Given the description of an element on the screen output the (x, y) to click on. 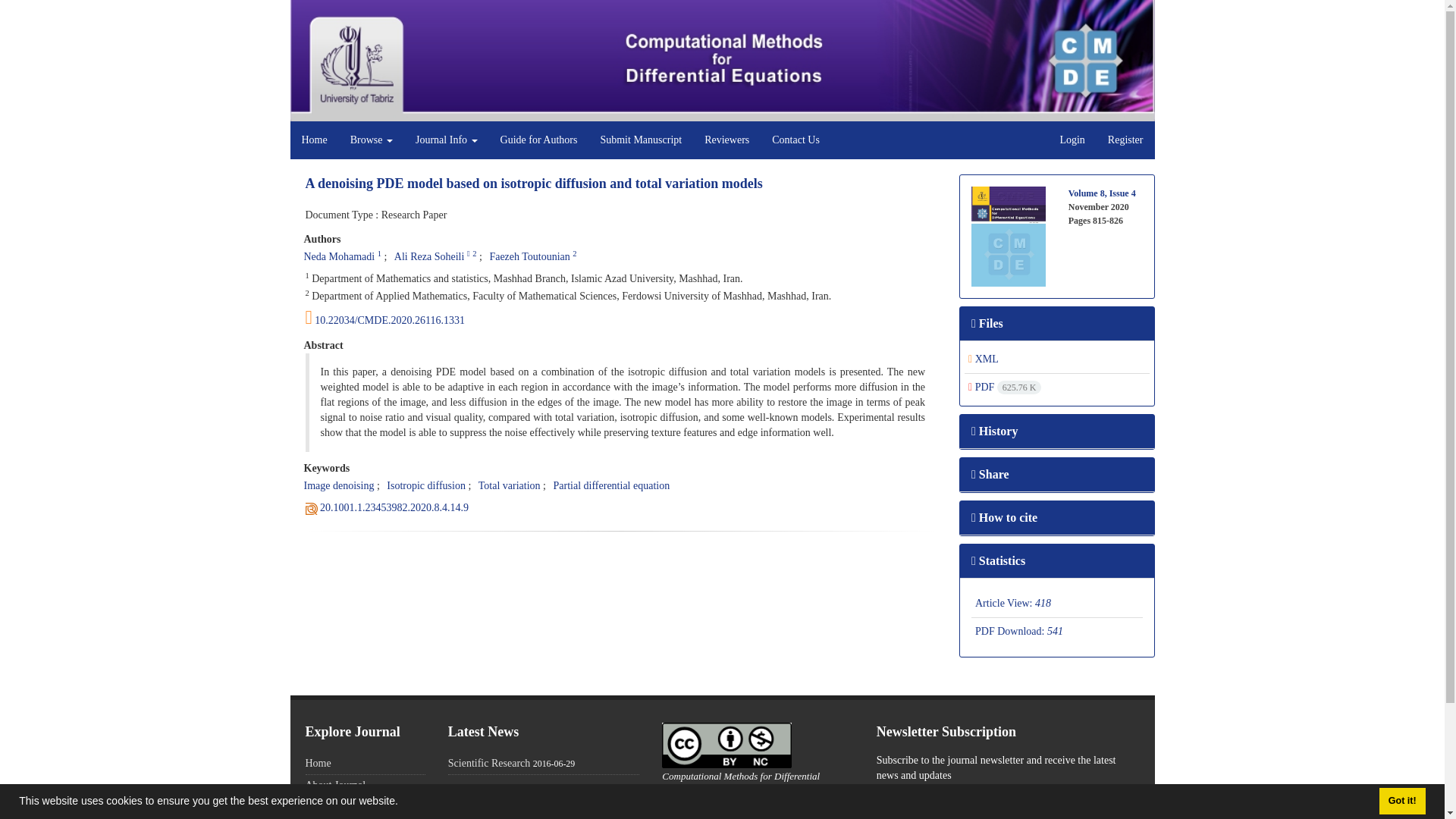
DOR (394, 507)
Login (1072, 139)
Total variation (509, 485)
Submit Manuscript (640, 139)
Journal Info (446, 139)
Home (313, 139)
Isotropic diffusion (426, 485)
Faezeh Toutounian (529, 256)
Partial differential equation (611, 485)
Image denoising (338, 485)
Contact Us (795, 139)
Register (1125, 139)
Guide for Authors (539, 139)
Browse (371, 139)
